Given the description of an element on the screen output the (x, y) to click on. 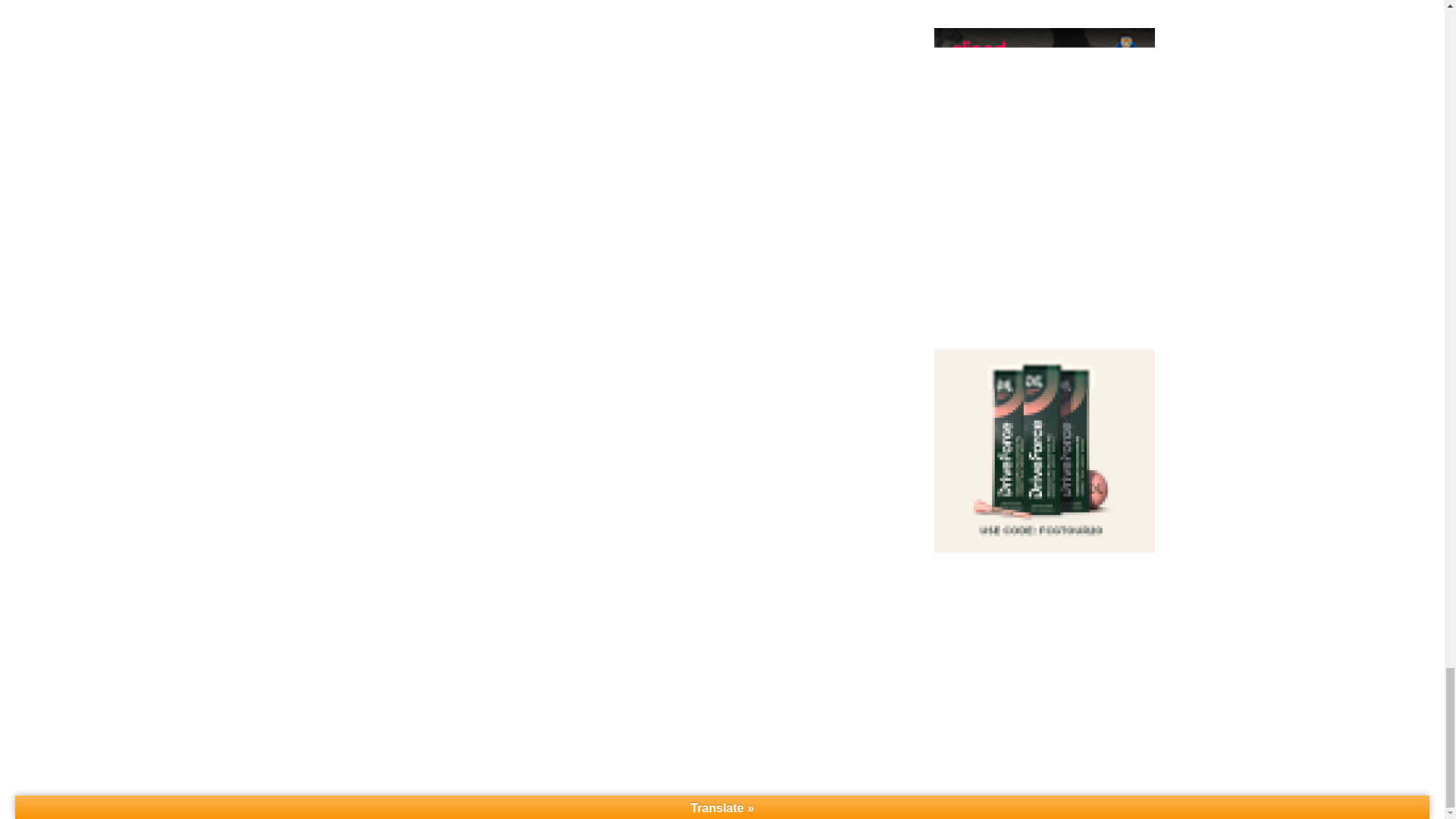
YouTube video player (1044, 644)
